Given the description of an element on the screen output the (x, y) to click on. 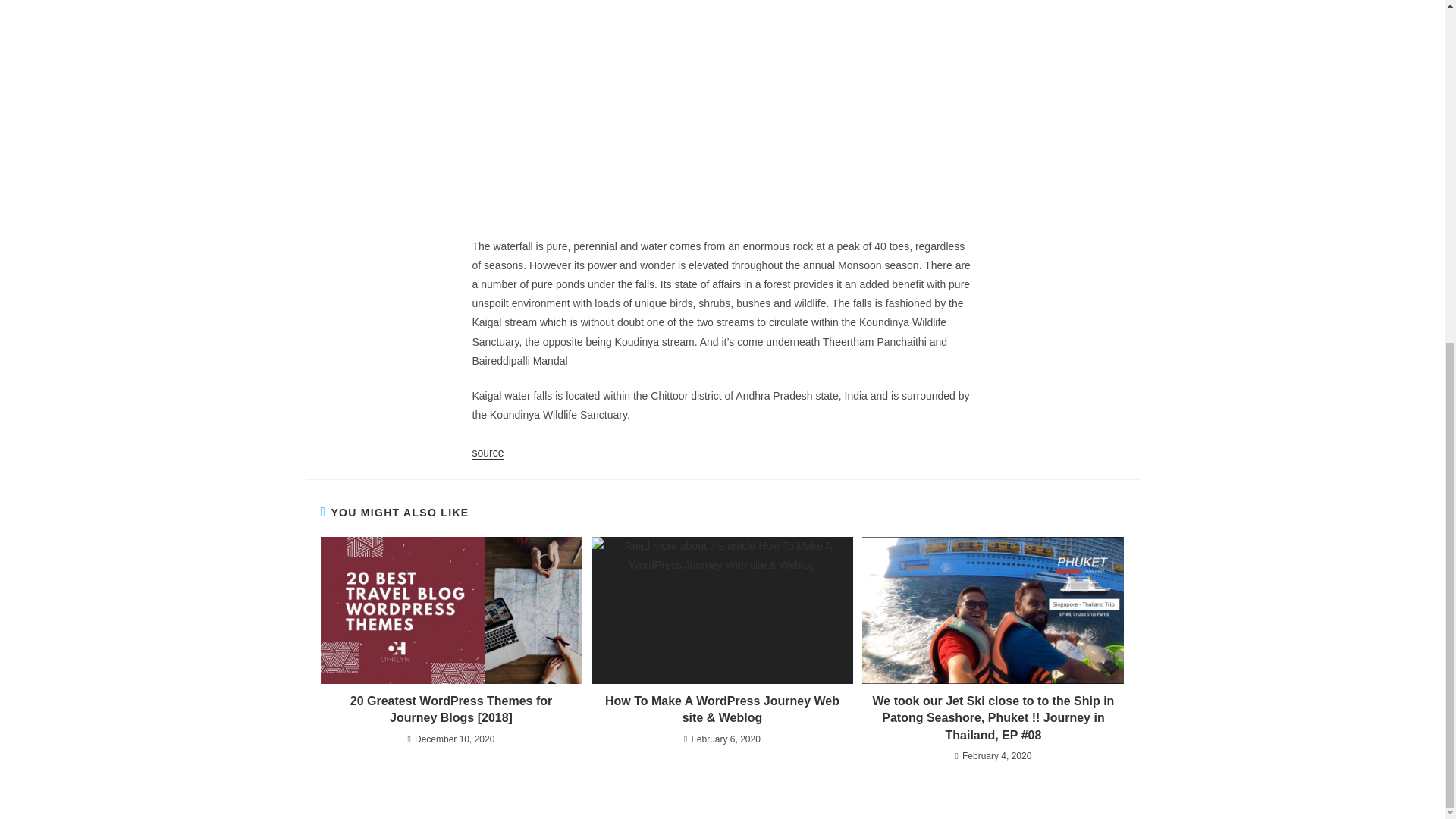
Submit (769, 89)
www.buyairticket.co.uk (601, 91)
source (487, 452)
kaigal waterfalls weekend travel blog (721, 105)
